Given the description of an element on the screen output the (x, y) to click on. 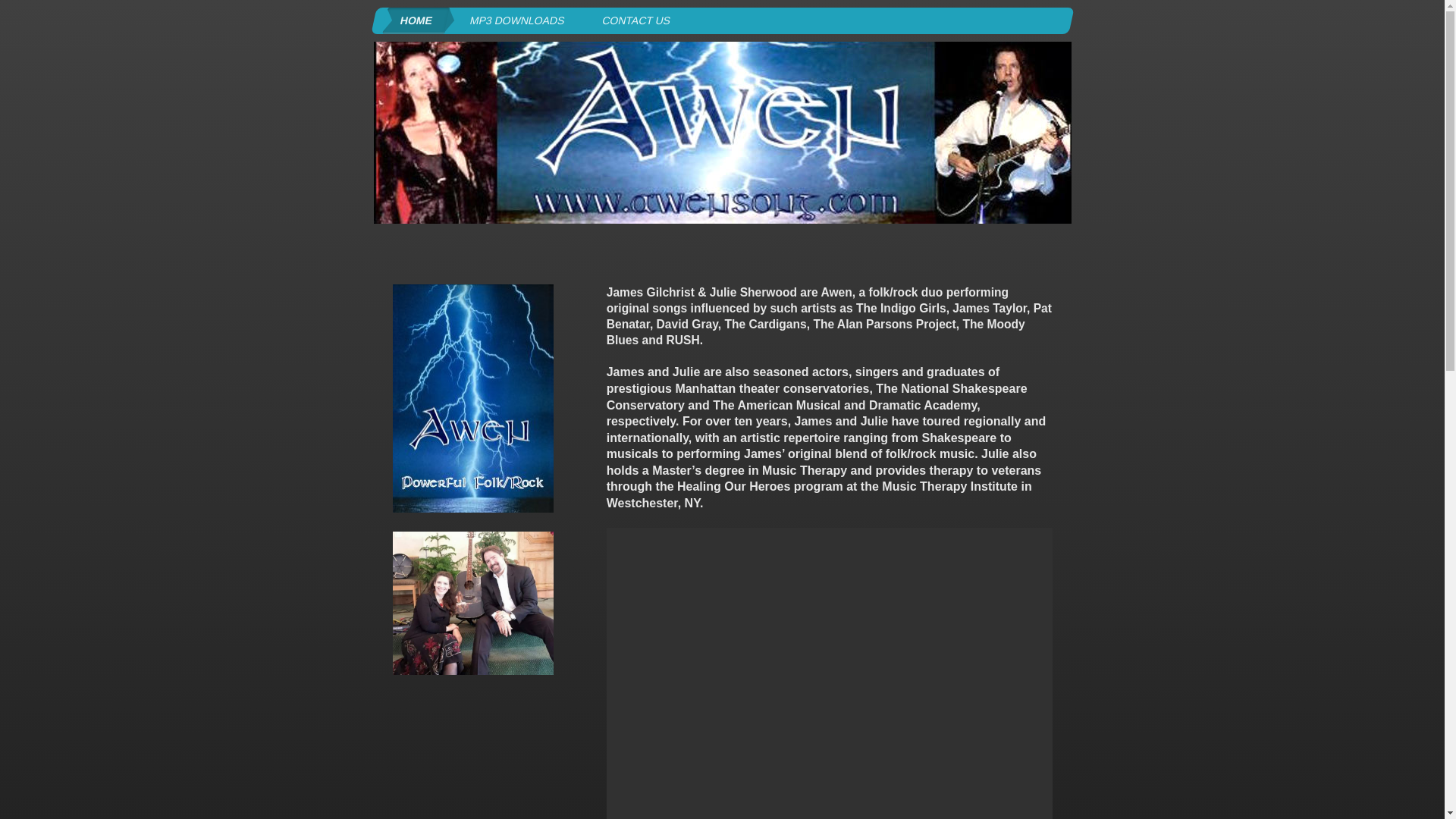
CONTACT US (632, 20)
HOME (412, 20)
MP3 DOWNLOADS (513, 20)
